Given the description of an element on the screen output the (x, y) to click on. 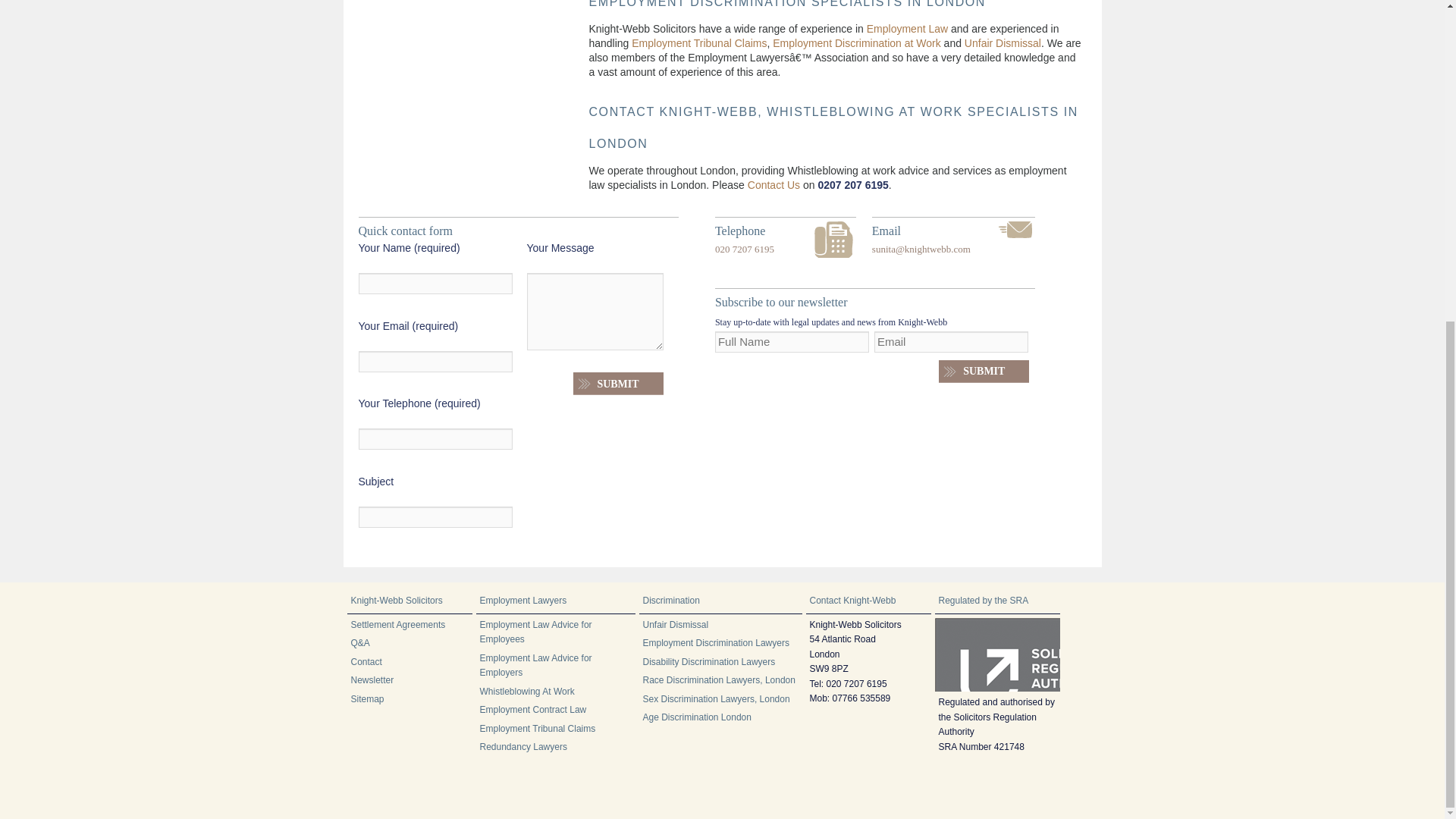
Contact Us (773, 184)
Employment Tribunal Claims (699, 42)
SUBMIT (984, 371)
Newsletter (371, 679)
Knight-Webb Solicitors (396, 600)
Employment Contract Law (532, 709)
Employment Law (906, 28)
Settlement Agreements (397, 624)
Whistleblowing At Work (526, 691)
SUBMIT (618, 383)
Employment Discrimination at Work (856, 42)
Contact (365, 661)
Employment Lawyers (522, 600)
Employment Law Advice for Employees (535, 632)
Unfair Dismissal (1002, 42)
